Given the description of an element on the screen output the (x, y) to click on. 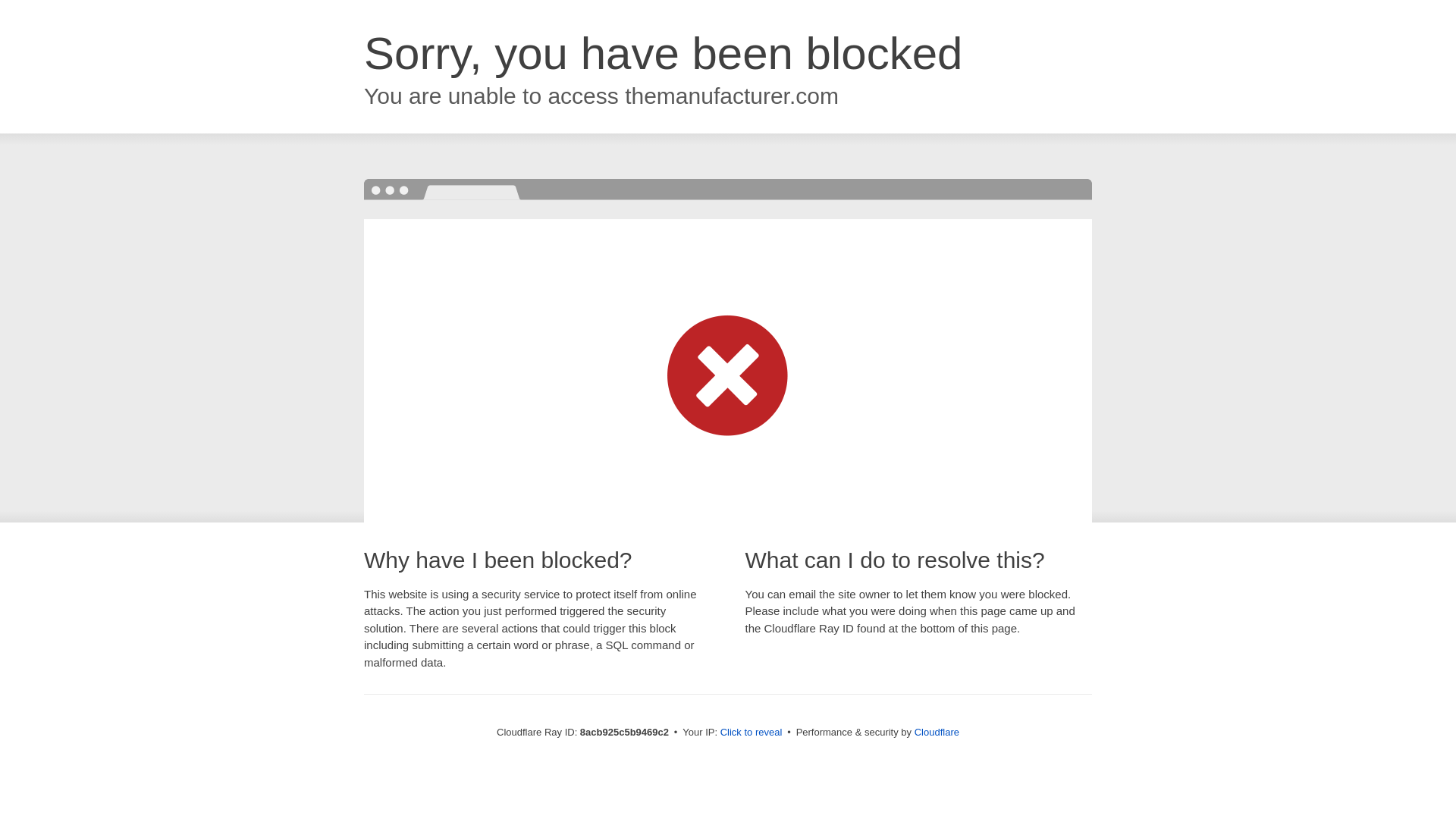
Cloudflare (936, 731)
Click to reveal (751, 732)
